Given the description of an element on the screen output the (x, y) to click on. 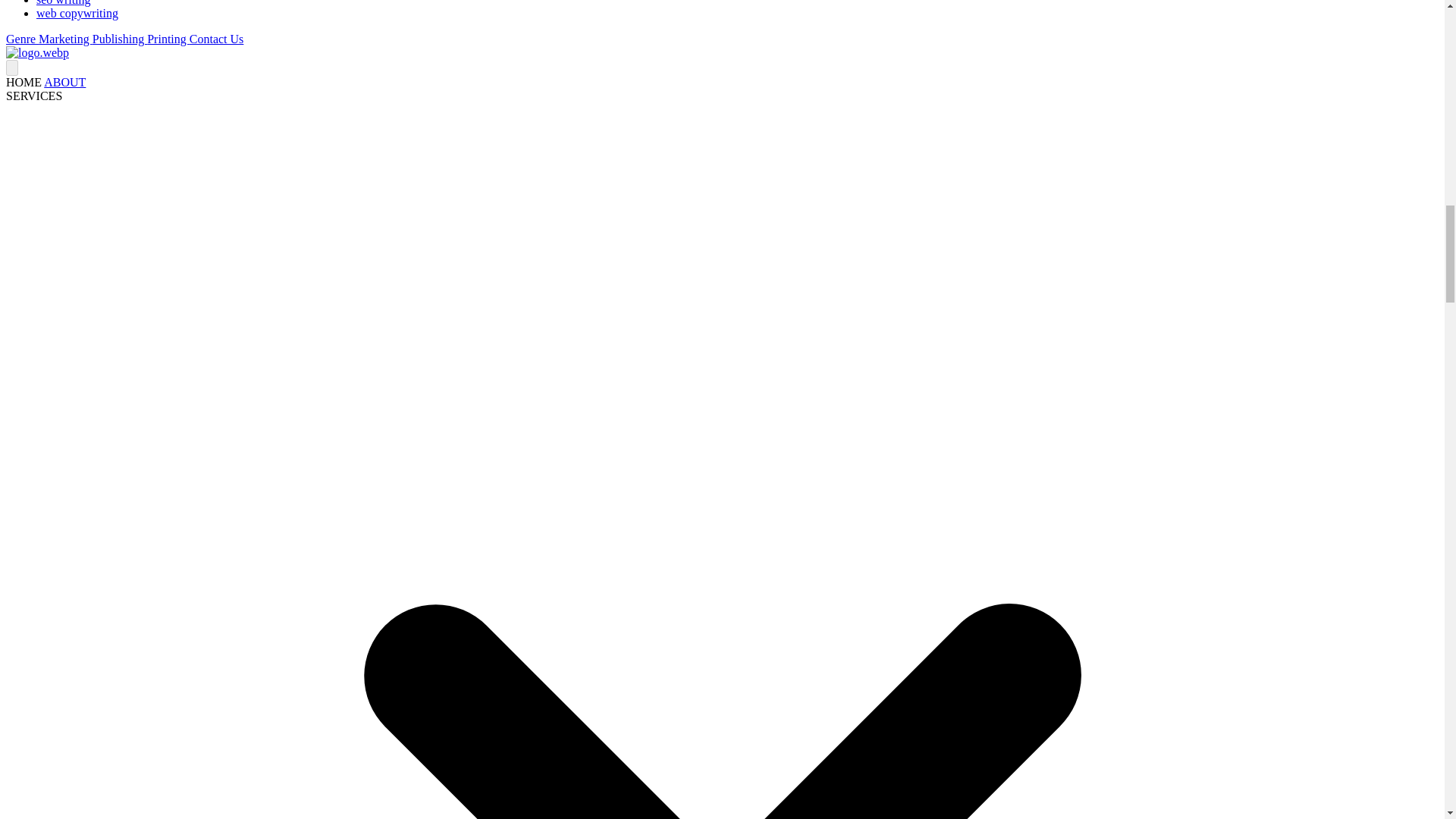
Printing (168, 38)
Contact Us (216, 38)
Publishing (120, 38)
Genre (22, 38)
Marketing (66, 38)
seo writing (63, 2)
web copywriting (76, 12)
HOME (24, 82)
ABOUT (64, 82)
